Given the description of an element on the screen output the (x, y) to click on. 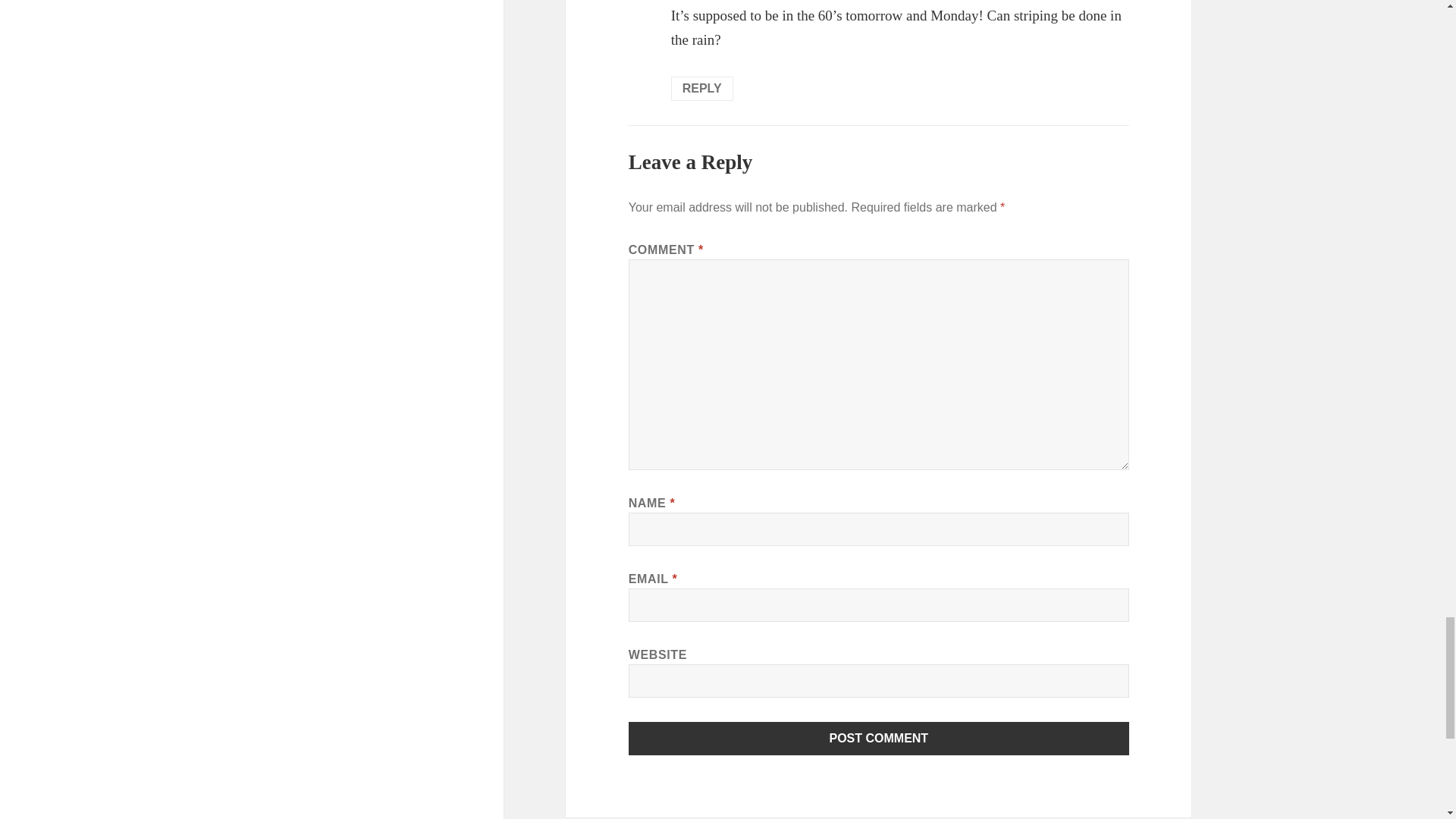
Post Comment (878, 738)
